Given the description of an element on the screen output the (x, y) to click on. 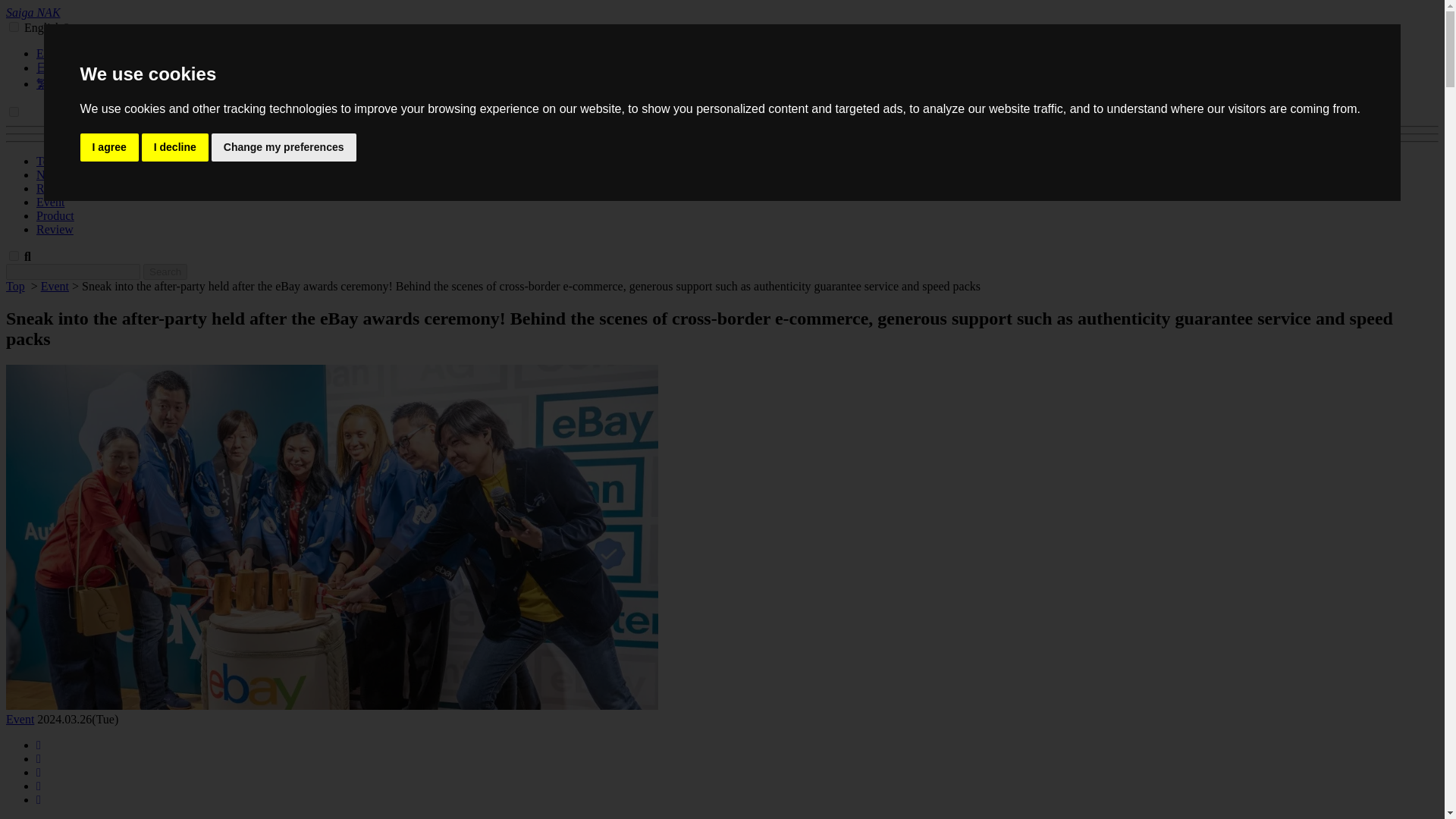
Event (19, 718)
on (13, 112)
English (55, 52)
Product (55, 215)
News (50, 174)
Top (45, 160)
I agree (109, 147)
News (50, 174)
Top (45, 160)
Saiga NAK (33, 11)
Event (54, 286)
Product (55, 215)
on (13, 26)
Review (55, 228)
I decline (174, 147)
